Given the description of an element on the screen output the (x, y) to click on. 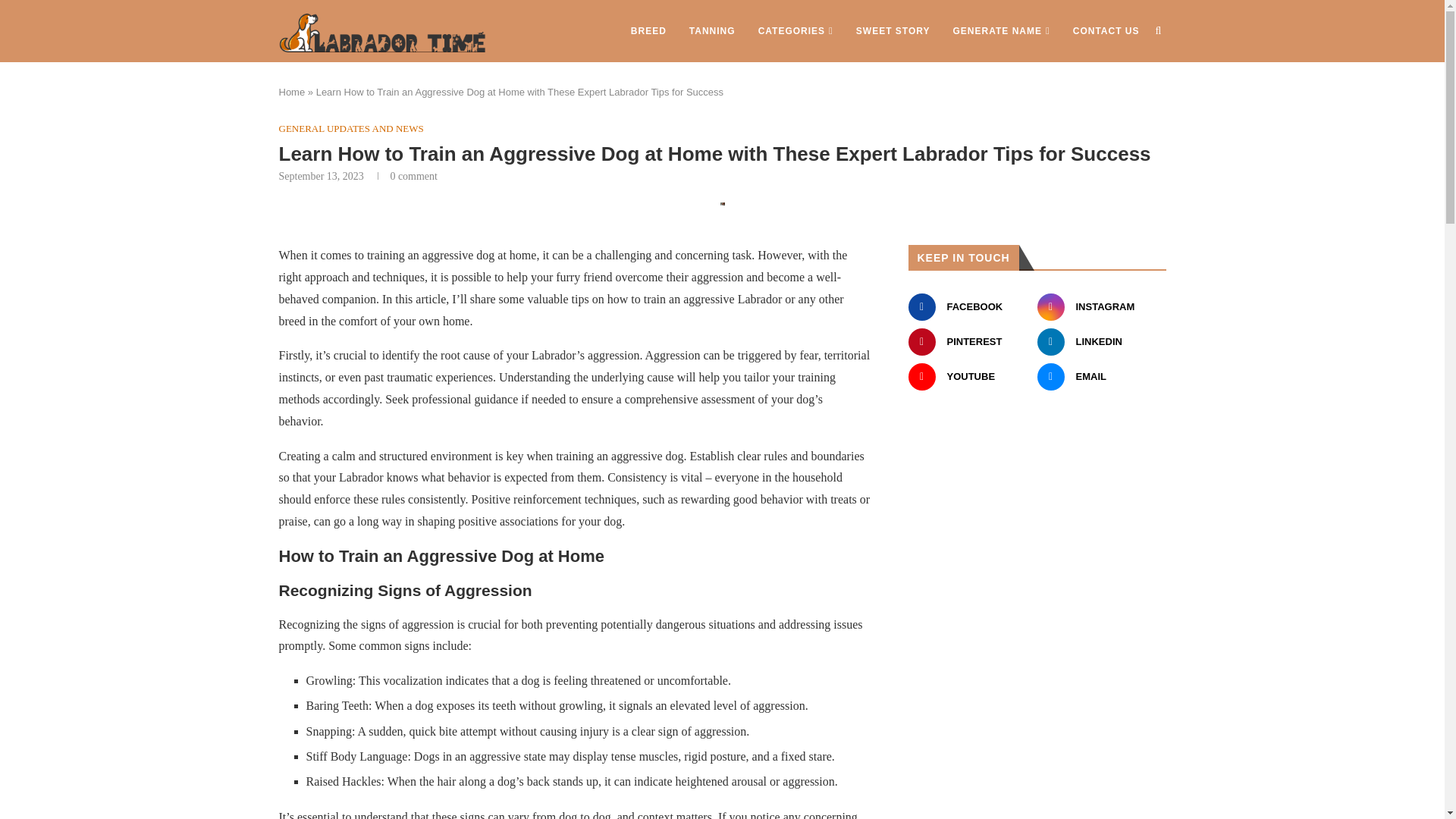
GENERAL UPDATES AND NEWS (351, 128)
Home (292, 91)
CATEGORIES (795, 30)
CONTACT US (1106, 30)
GENERATE NAME (1001, 30)
TANNING (711, 30)
BREED (648, 30)
SWEET STORY (893, 30)
